Given the description of an element on the screen output the (x, y) to click on. 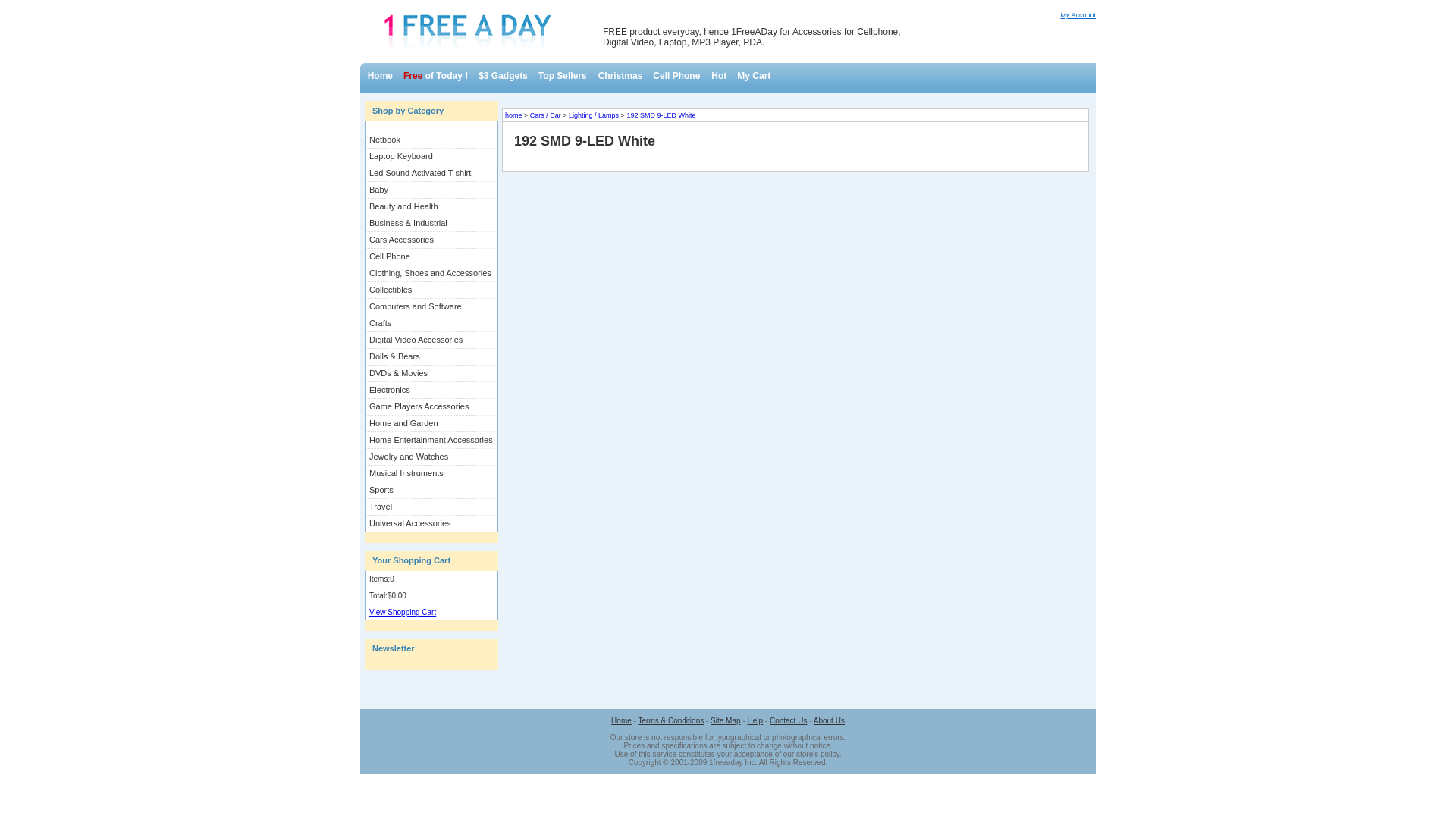
Led Sound Activated T-shirt Element type: text (433, 172)
View Shopping Cart Element type: text (402, 612)
Electronics Element type: text (433, 389)
Cell Phone Element type: text (433, 255)
Terms & Conditions Element type: text (671, 720)
Contact Us Element type: text (787, 720)
Baby Element type: text (433, 189)
Cars / Car Element type: text (545, 115)
Hot Element type: text (718, 75)
Jewelry and Watches Element type: text (433, 456)
Laptop Keyboard Element type: text (433, 155)
Home Element type: text (379, 75)
Clothing, Shoes and Accessories Element type: text (433, 272)
My Cart Element type: text (753, 75)
Christmas Element type: text (620, 75)
Computers and Software Element type: text (433, 305)
My Account Element type: text (1077, 14)
DVDs & Movies Element type: text (433, 372)
Sports Element type: text (433, 489)
home Element type: text (513, 115)
Universal Accessories Element type: text (433, 522)
Home and Garden Element type: text (433, 422)
Help Element type: text (754, 720)
Collectibles Element type: text (433, 289)
Crafts Element type: text (433, 322)
Home Element type: text (621, 720)
192 SMD 9-LED White Element type: text (660, 115)
Cell Phone Element type: text (675, 75)
Site Map Element type: text (725, 720)
Digital Video Accessories Element type: text (433, 339)
Home Entertainment Accessories Element type: text (433, 439)
Business & Industrial Element type: text (433, 222)
About Us Element type: text (828, 720)
Travel Element type: text (433, 506)
$3 Gadgets Element type: text (502, 75)
Free of Today ! Element type: text (435, 75)
Netbook Element type: text (433, 139)
Lighting / Lamps Element type: text (593, 115)
Musical Instruments Element type: text (433, 472)
Dolls & Bears Element type: text (433, 355)
Beauty and Health Element type: text (433, 205)
Game Players Accessories Element type: text (433, 406)
Top Sellers Element type: text (562, 75)
Cars Accessories Element type: text (433, 239)
